Given the description of an element on the screen output the (x, y) to click on. 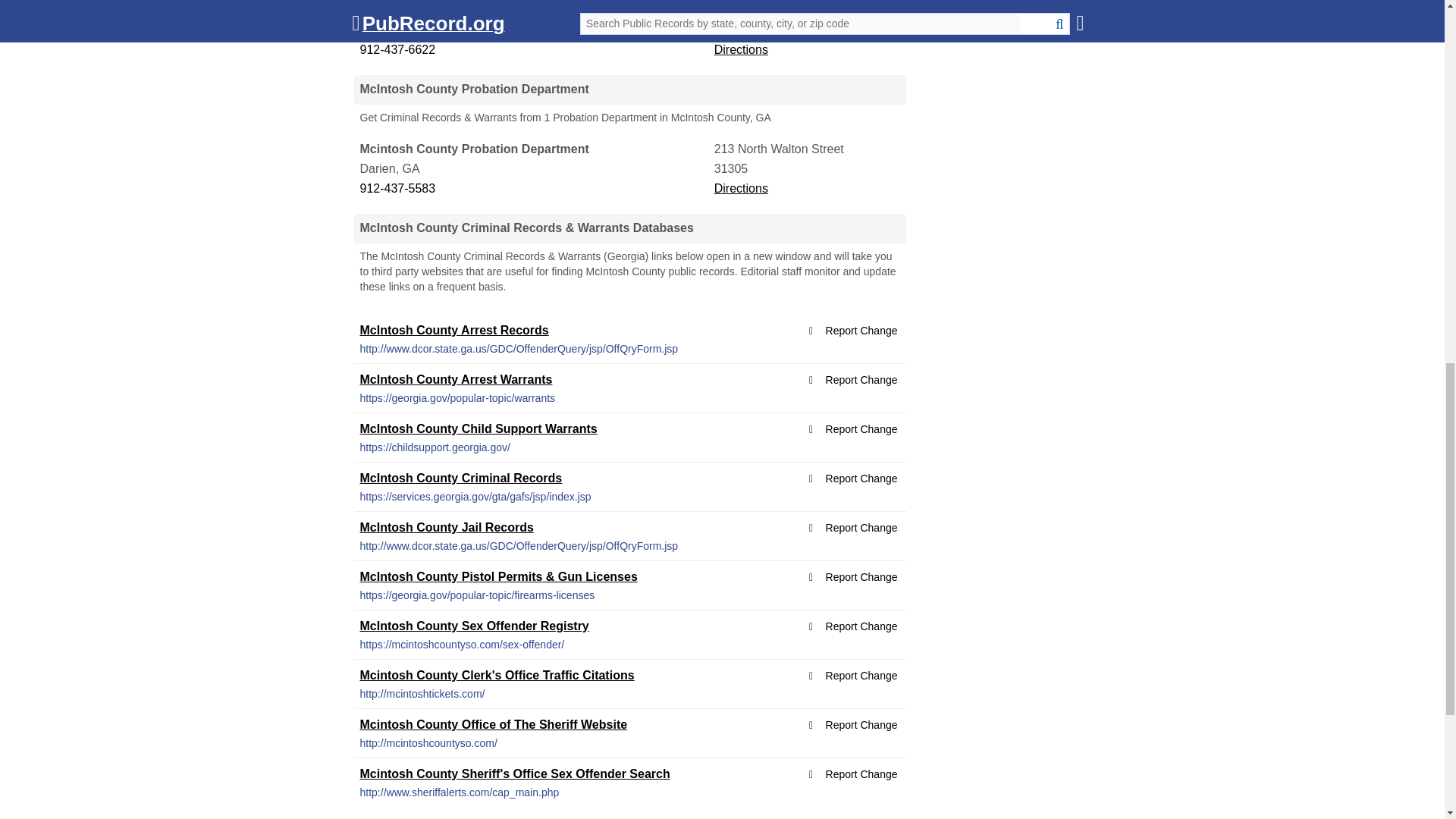
McIntosh County Arrest Records (453, 329)
912-437-6622 (534, 49)
McIntosh County Jail Records (445, 526)
Directions (741, 49)
McIntosh County Arrest Warrants (455, 379)
McIntosh County Arrest Warrants (455, 379)
McIntosh County Criminal Records (460, 477)
McIntosh County Sex Offender Registry (473, 625)
912-437-5583 (534, 189)
McIntosh County Arrest Records (453, 329)
McIntosh County Criminal Records (460, 477)
Directions (741, 187)
McIntosh County Child Support Warrants (477, 428)
McIntosh County Child Support Warrants (477, 428)
